Given the description of an element on the screen output the (x, y) to click on. 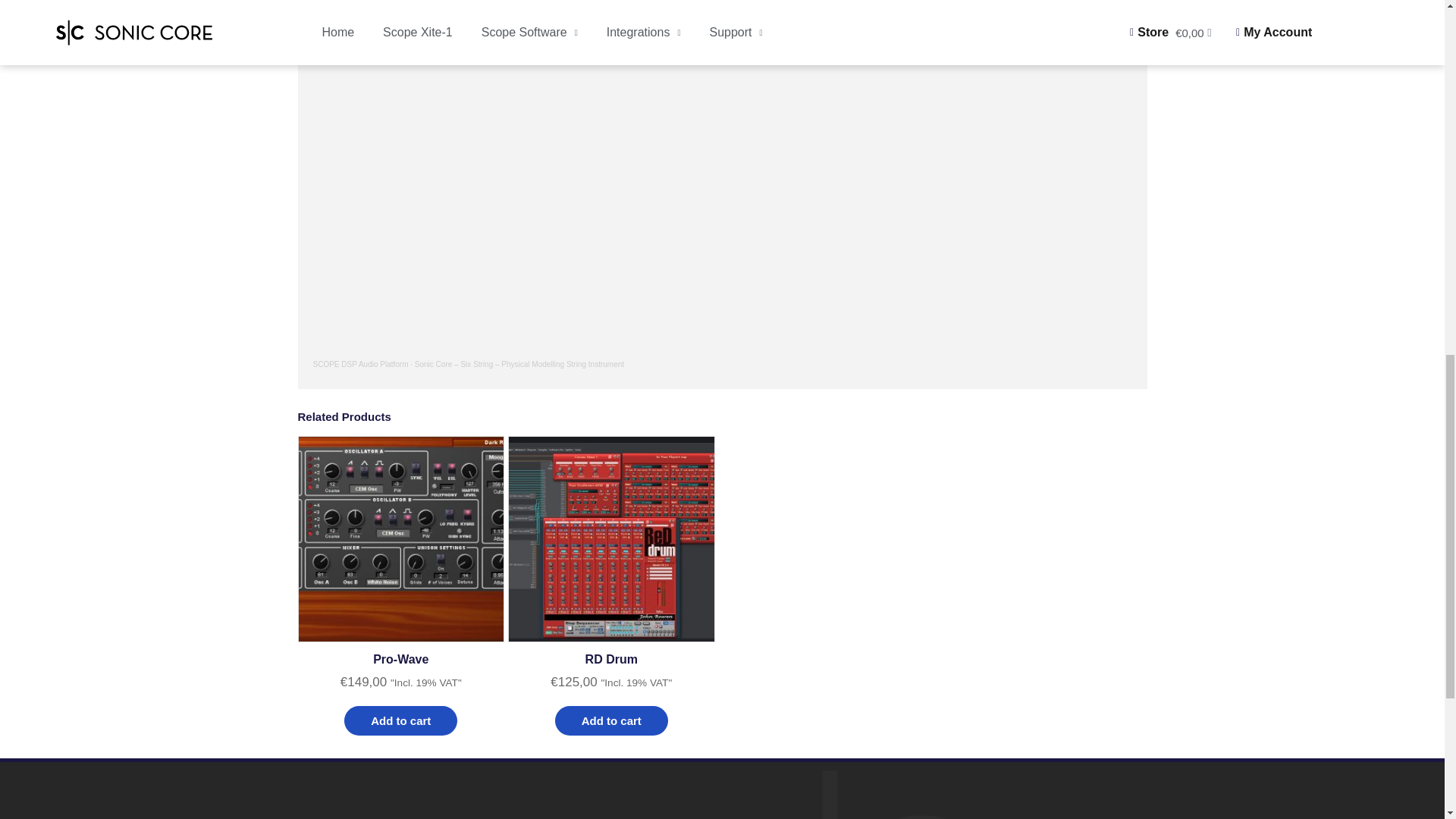
SCOPE DSP Audio Platform (360, 364)
